Given the description of an element on the screen output the (x, y) to click on. 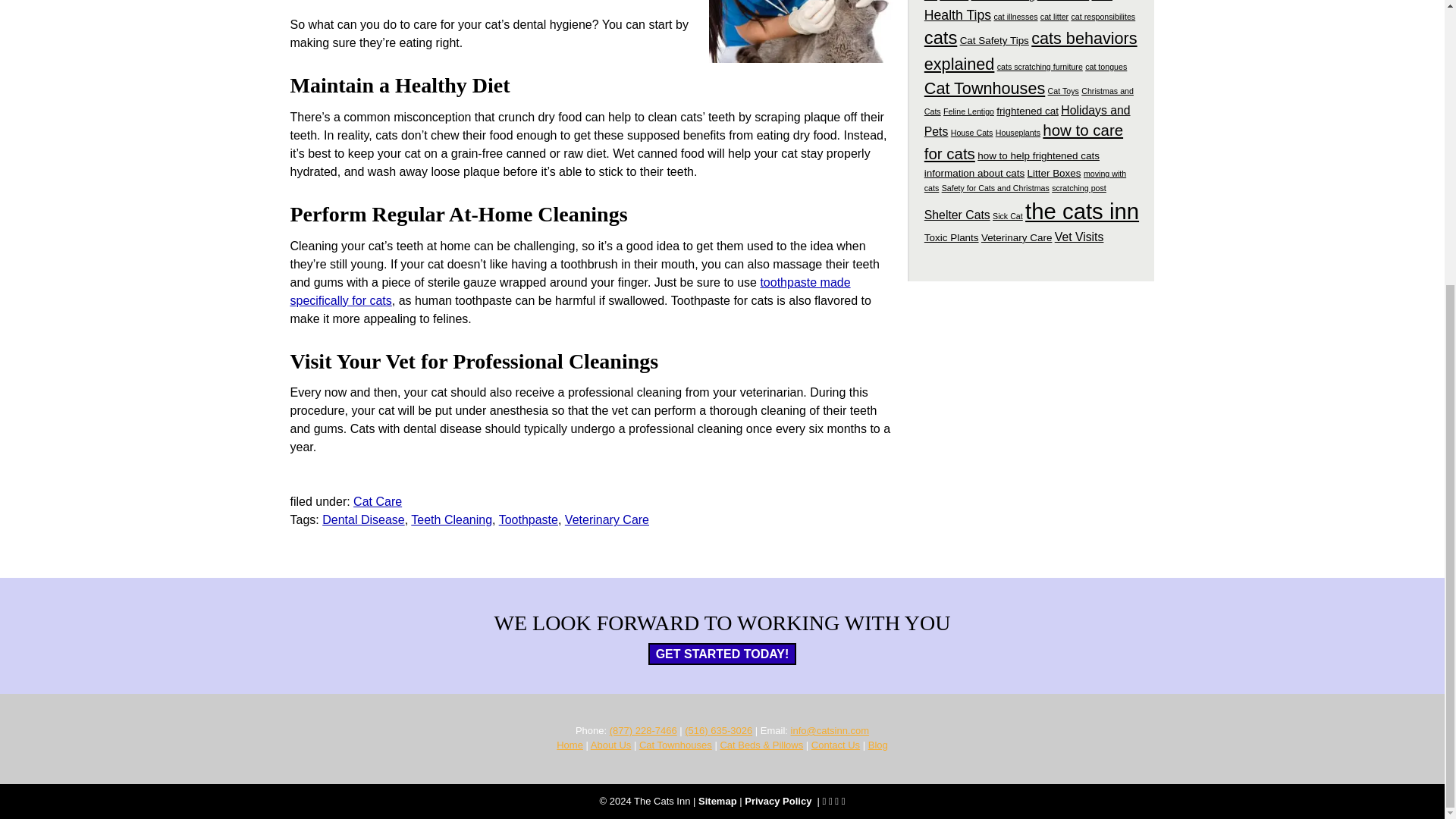
Social Media Links (833, 801)
toothpaste made specifically for cats (569, 291)
Bottom Bar Navigation (754, 801)
Veterinary Care (606, 519)
Teeth Cleaning (451, 519)
Cat Care (377, 501)
Dental Disease (362, 519)
Toothpaste (528, 519)
